Given the description of an element on the screen output the (x, y) to click on. 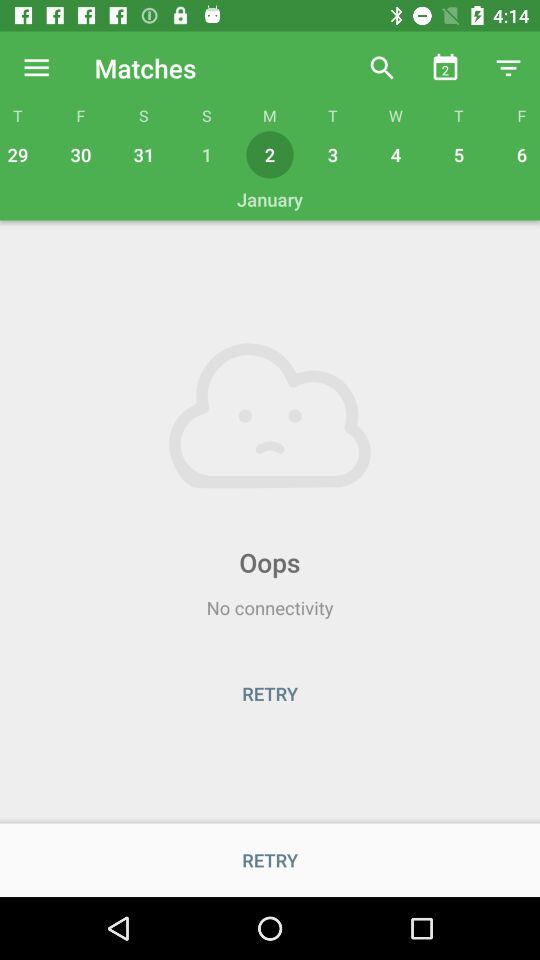
scroll to the 1 (206, 154)
